Given the description of an element on the screen output the (x, y) to click on. 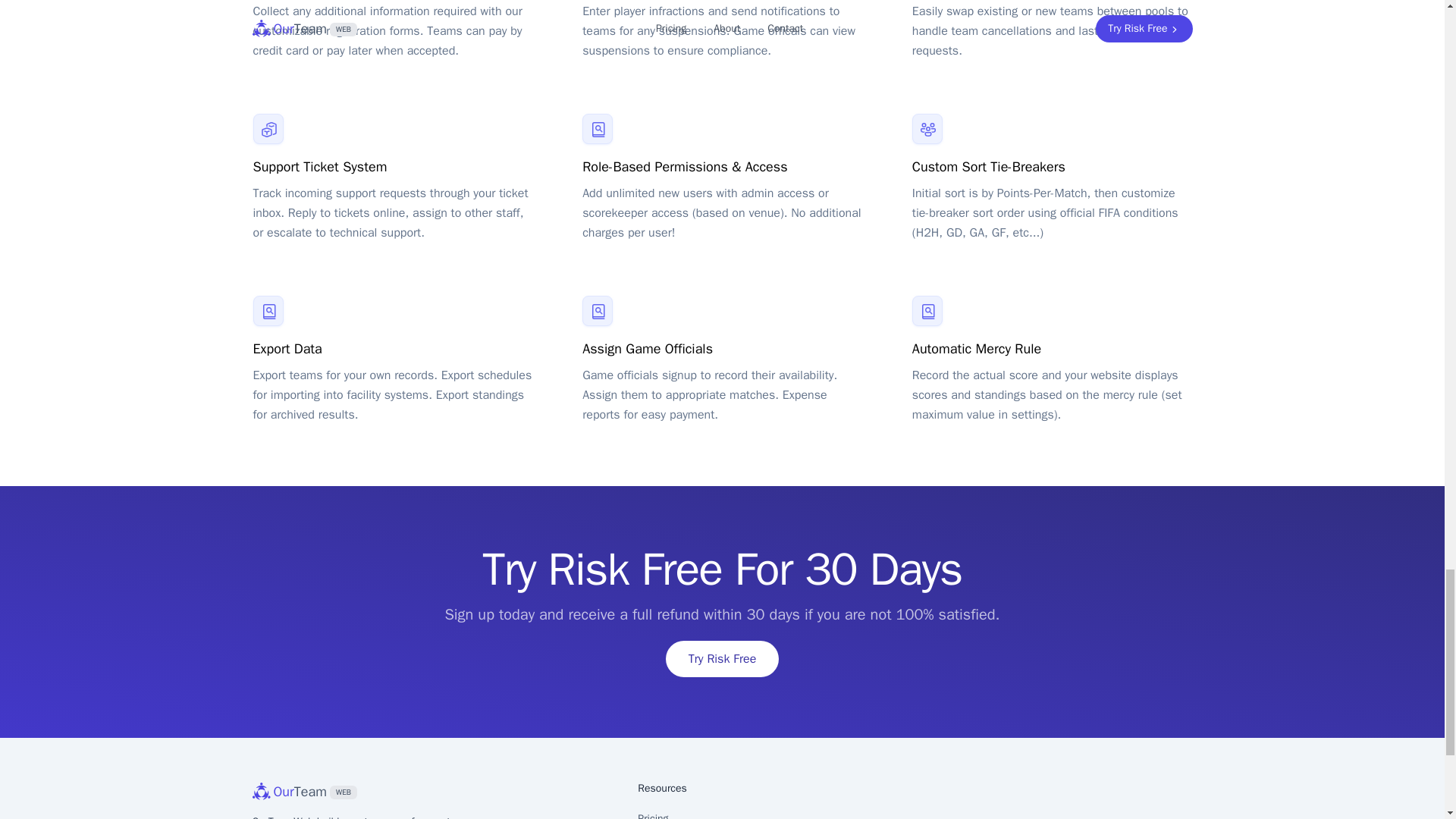
Try Risk Free (721, 657)
Pricing (431, 791)
